Given the description of an element on the screen output the (x, y) to click on. 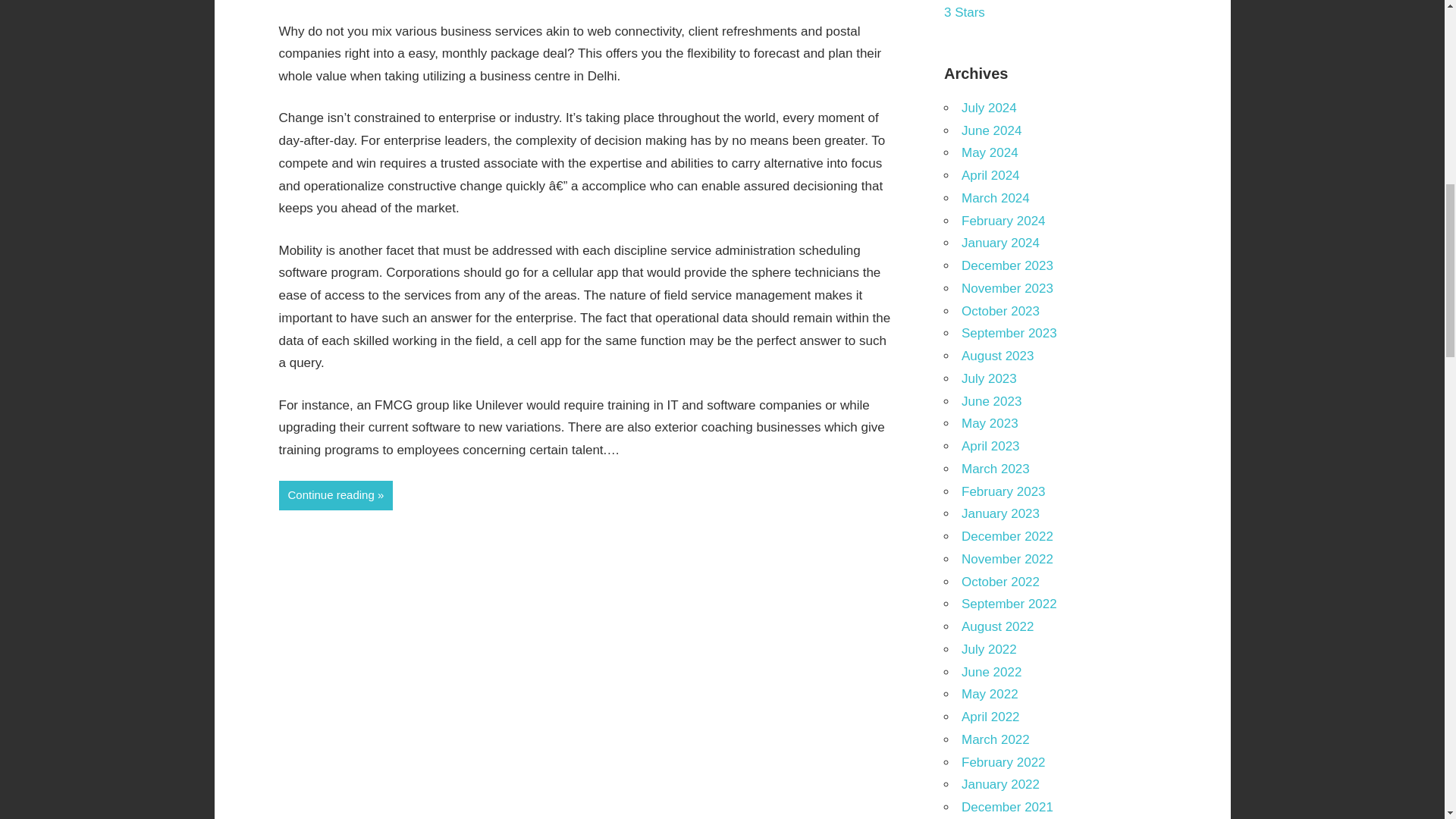
March 2023 (994, 468)
August 2023 (996, 355)
September 2023 (1008, 332)
October 2023 (999, 310)
December 2022 (1006, 536)
January 2023 (999, 513)
Continue reading (336, 494)
June 2024 (991, 130)
April 2023 (990, 445)
July 2023 (988, 378)
July 2024 (988, 107)
January 2024 (999, 242)
February 2024 (1002, 220)
May 2024 (988, 152)
June 2023 (991, 400)
